Given the description of an element on the screen output the (x, y) to click on. 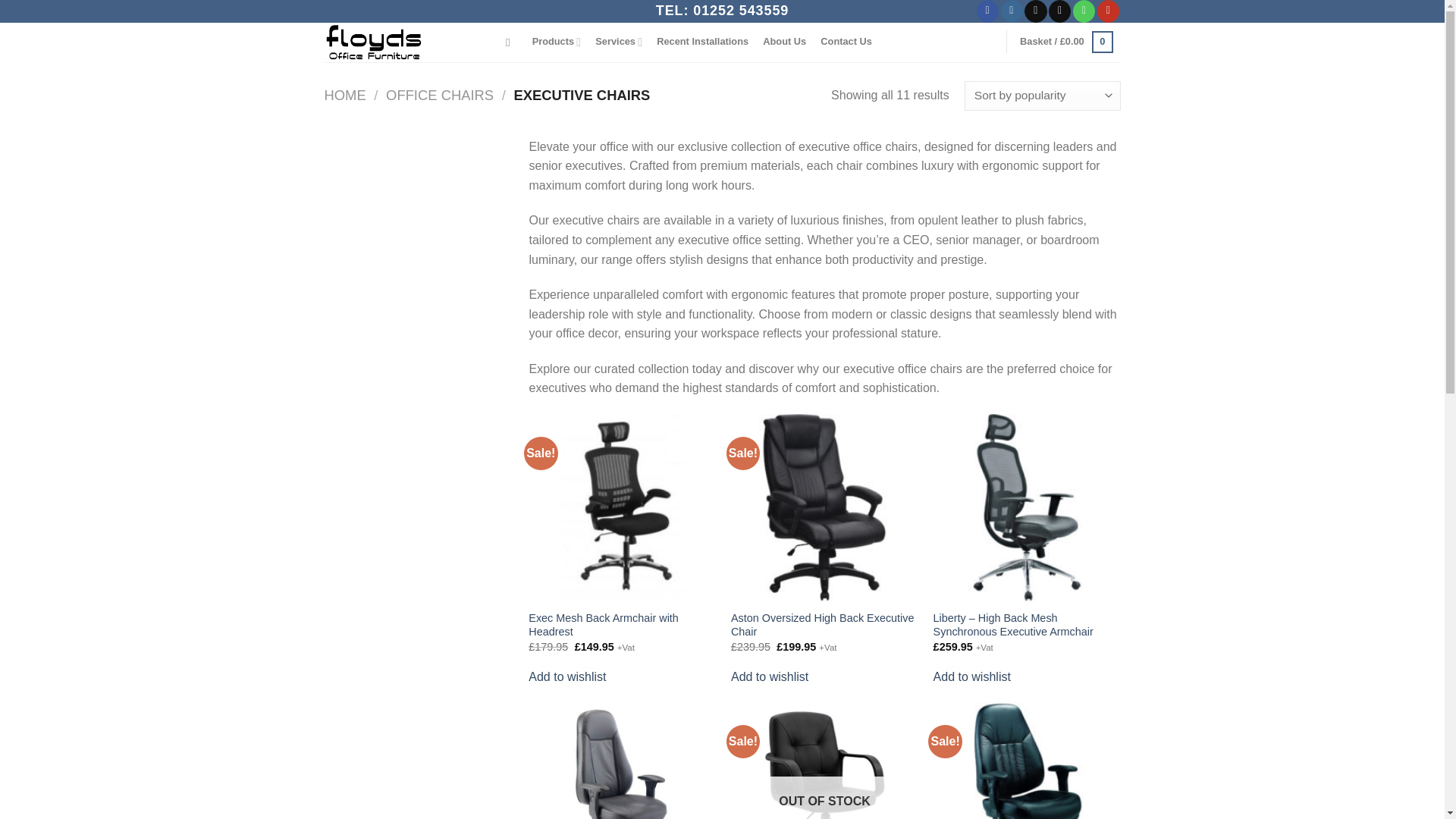
Follow on YouTube (1108, 11)
OFFICE CHAIRS (439, 94)
About Us (784, 41)
Products (556, 41)
Follow on Instagram (1012, 11)
Services (618, 41)
HOME (345, 94)
Contact Us (846, 41)
Call us (1083, 11)
Send us an email (1059, 11)
Follow on TikTok (1035, 11)
Basket (1065, 42)
Follow on Facebook (987, 11)
